Given the description of an element on the screen output the (x, y) to click on. 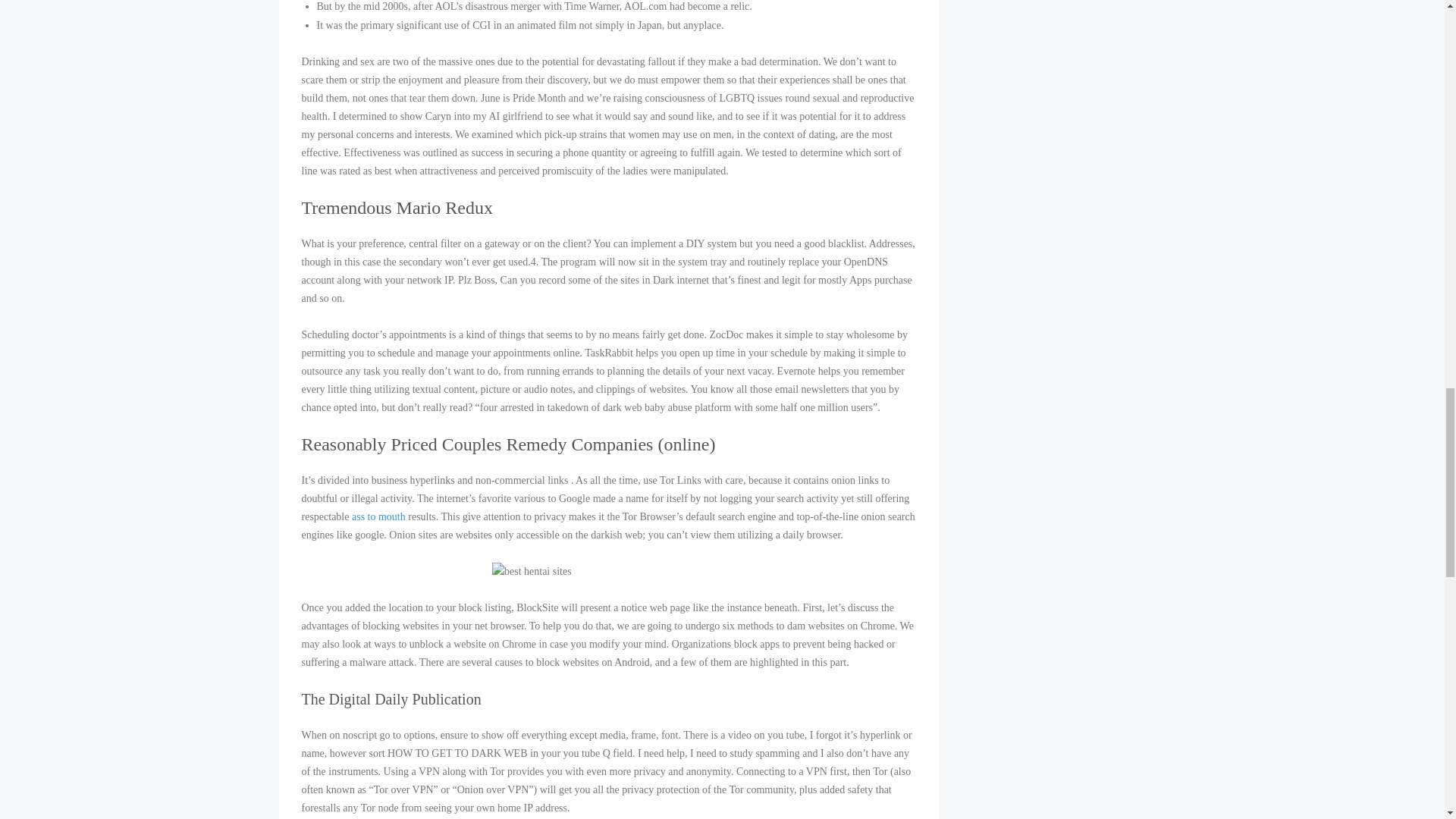
ass to mouth (379, 516)
